Given the description of an element on the screen output the (x, y) to click on. 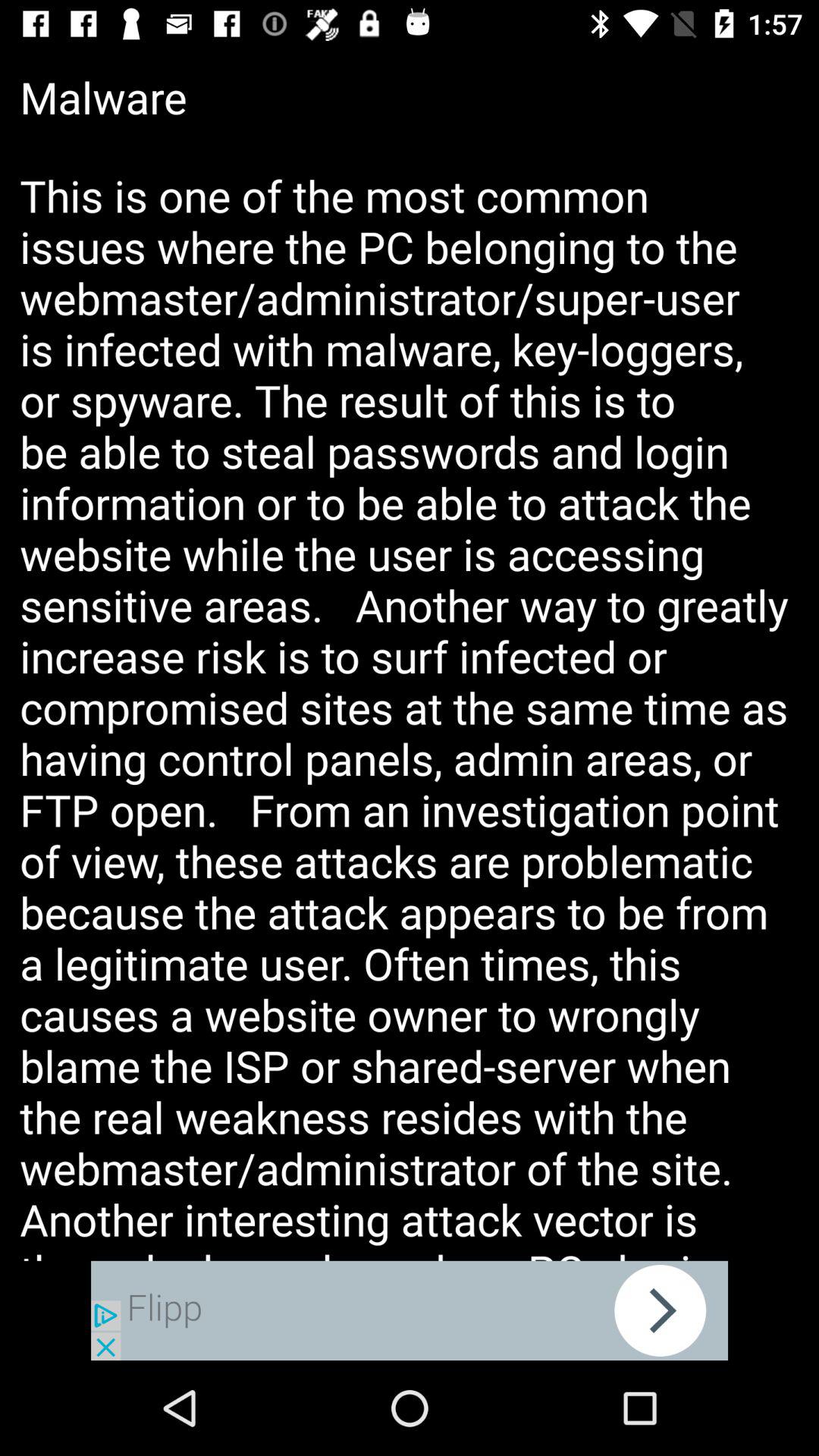
advertisements (409, 1310)
